Given the description of an element on the screen output the (x, y) to click on. 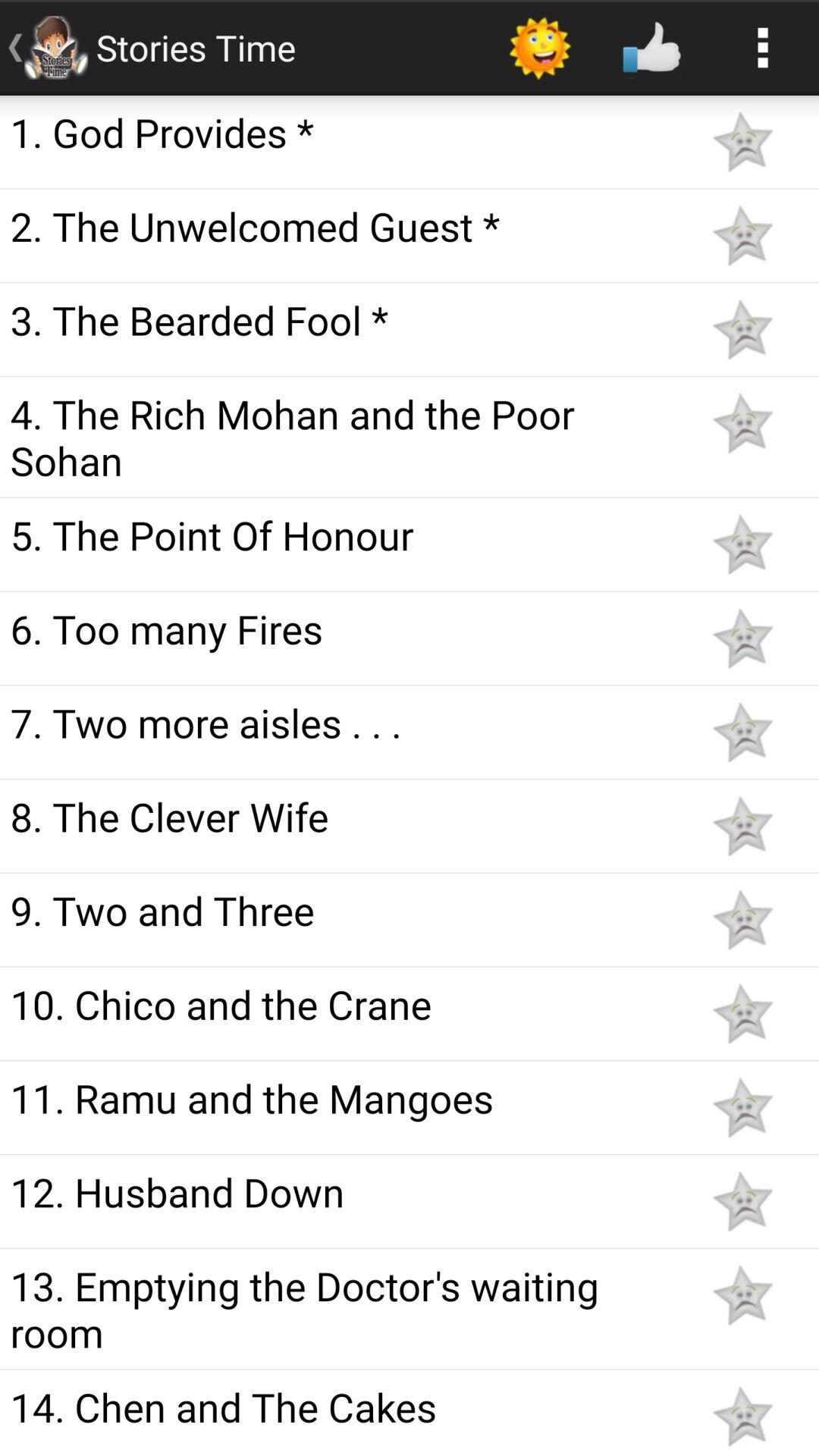
select 13 emptying the (343, 1308)
